Given the description of an element on the screen output the (x, y) to click on. 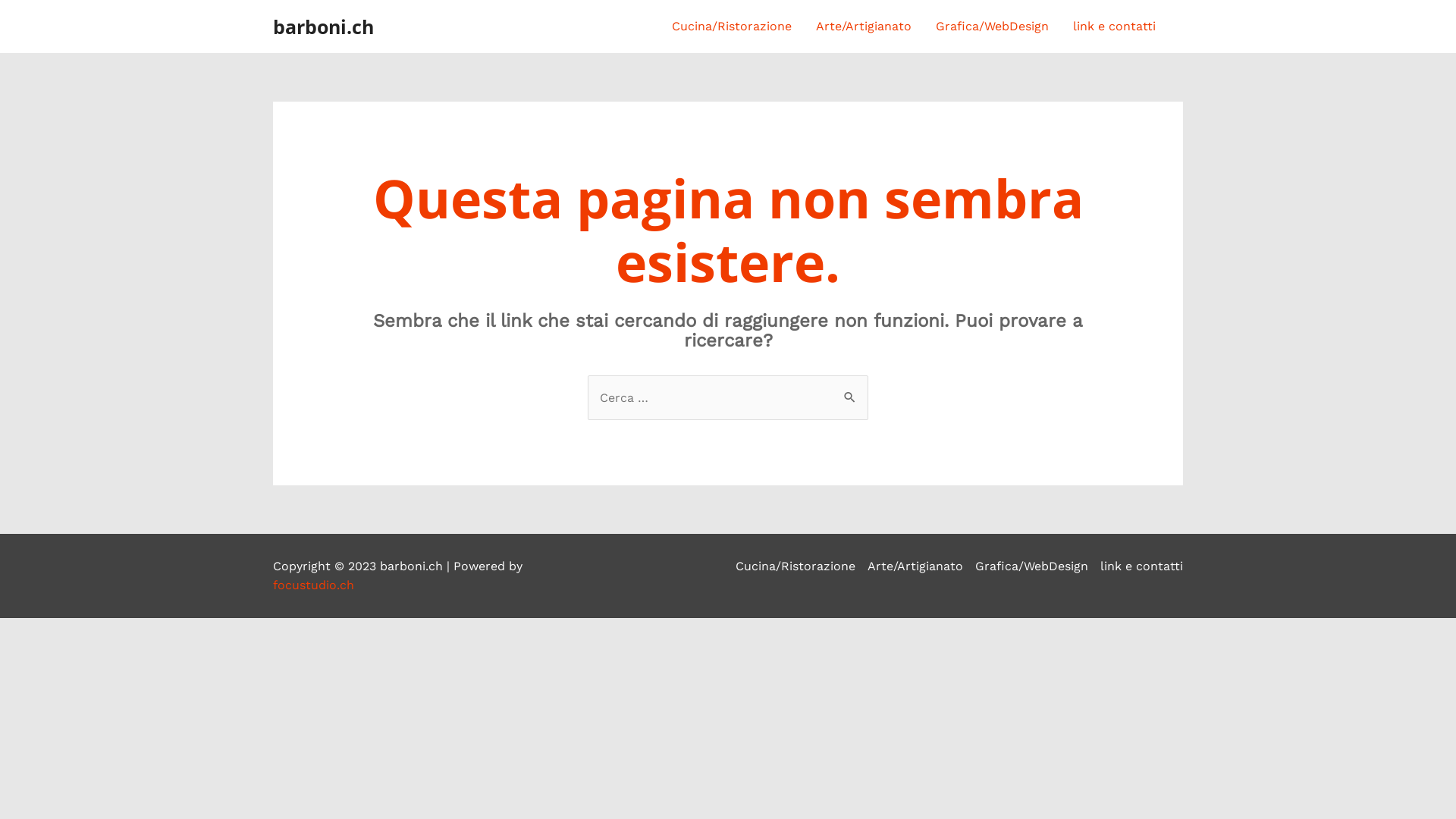
focustudio.ch Element type: text (313, 584)
Arte/Artigianato Element type: text (863, 26)
Grafica/WebDesign Element type: text (1031, 566)
link e contatti Element type: text (1113, 26)
link e contatti Element type: text (1138, 566)
Cucina/Ristorazione Element type: text (731, 26)
Arte/Artigianato Element type: text (915, 566)
Cerca Element type: text (851, 391)
barboni.ch Element type: text (323, 26)
Cucina/Ristorazione Element type: text (798, 566)
Grafica/WebDesign Element type: text (991, 26)
